Given the description of an element on the screen output the (x, y) to click on. 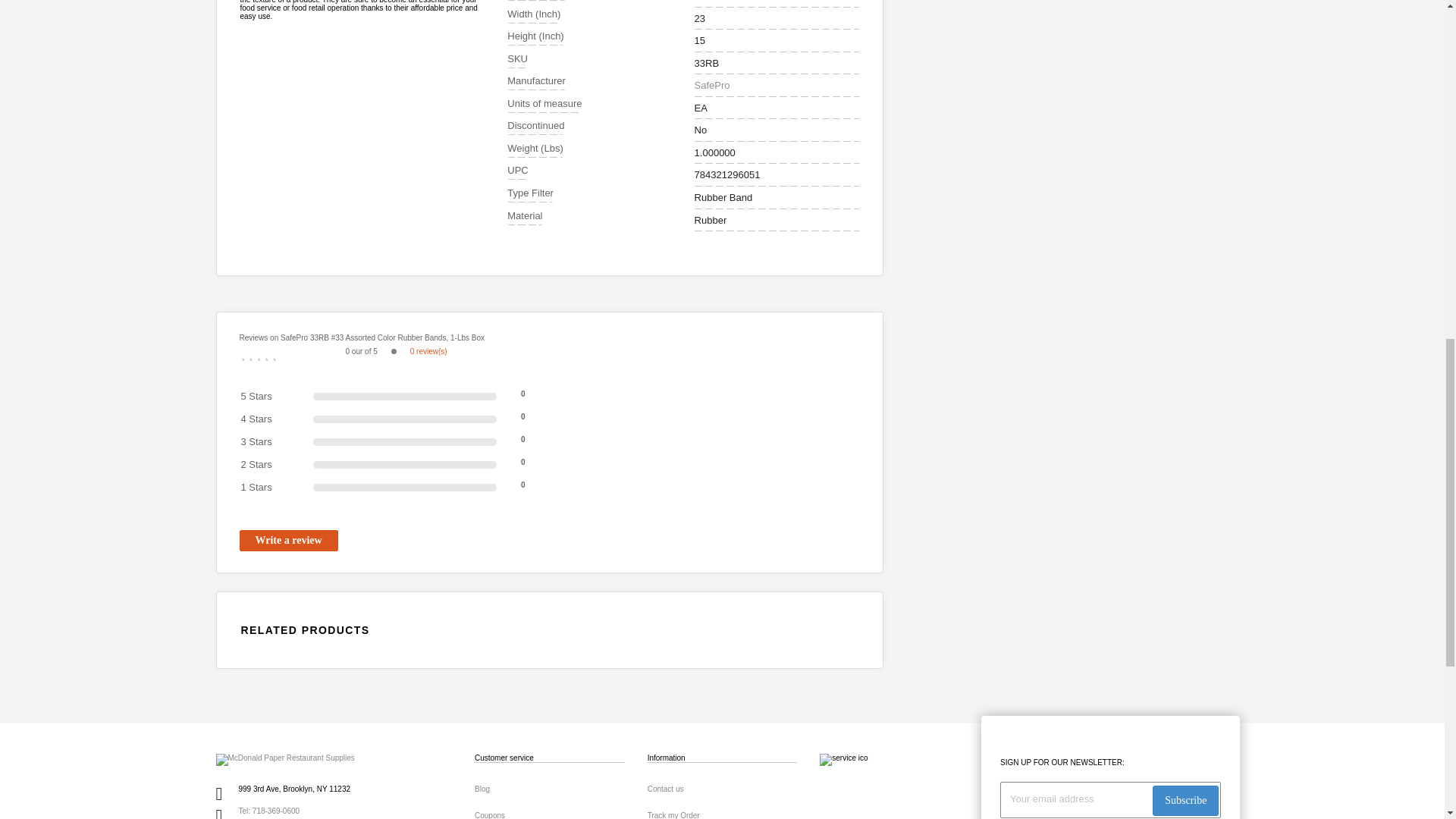
Write a review (288, 540)
